Given the description of an element on the screen output the (x, y) to click on. 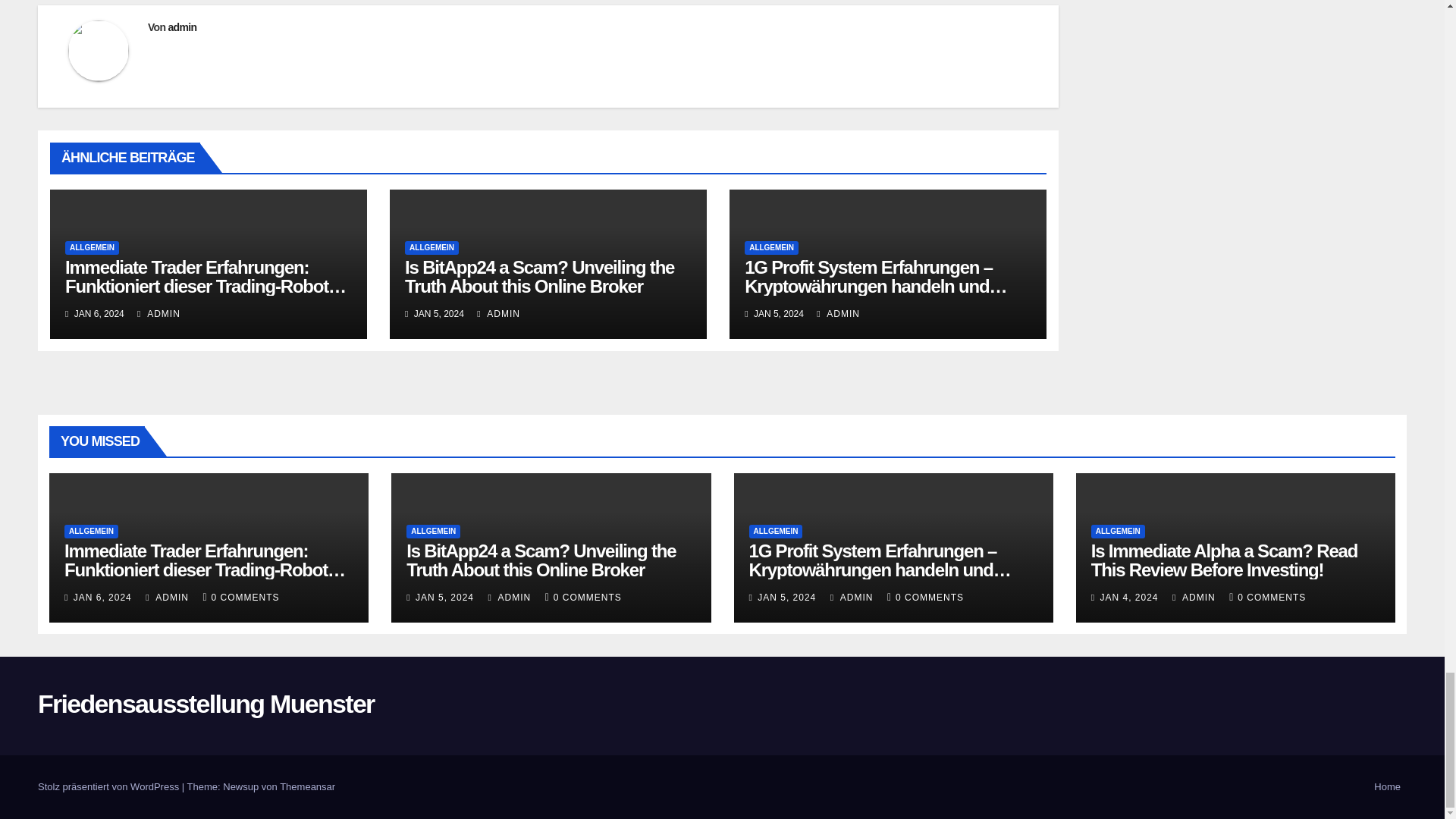
ALLGEMEIN (92, 247)
ADMIN (158, 313)
Home (1387, 786)
ALLGEMEIN (431, 247)
admin (182, 27)
ADMIN (498, 313)
